Given the description of an element on the screen output the (x, y) to click on. 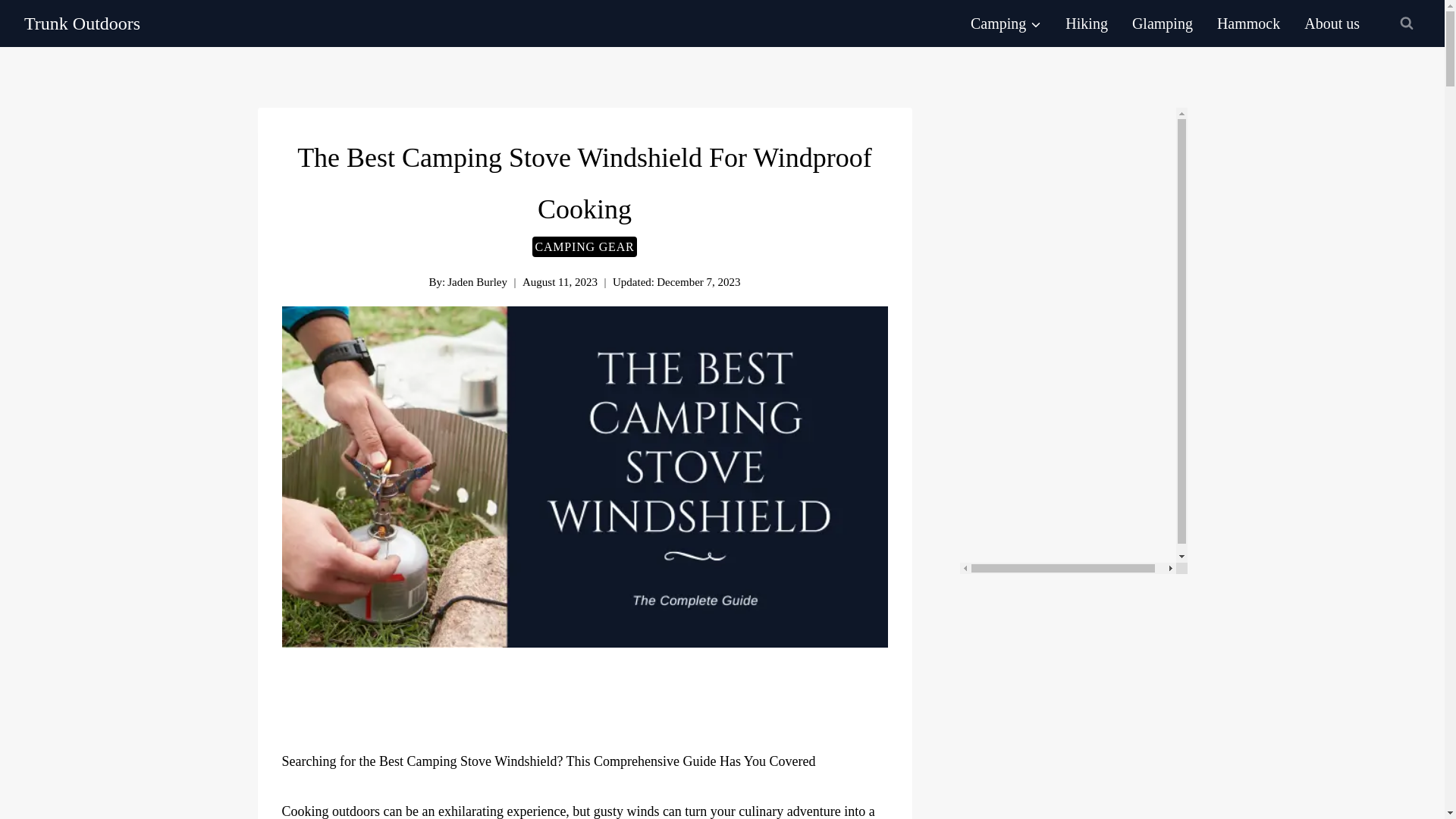
Hammock (1248, 23)
Advertisement (649, 705)
Hiking (1085, 23)
Camping (1005, 23)
Jaden Burley (476, 282)
Trunk Outdoors (81, 24)
Glamping (1162, 23)
About us (1331, 23)
CAMPING GEAR (584, 246)
